Given the description of an element on the screen output the (x, y) to click on. 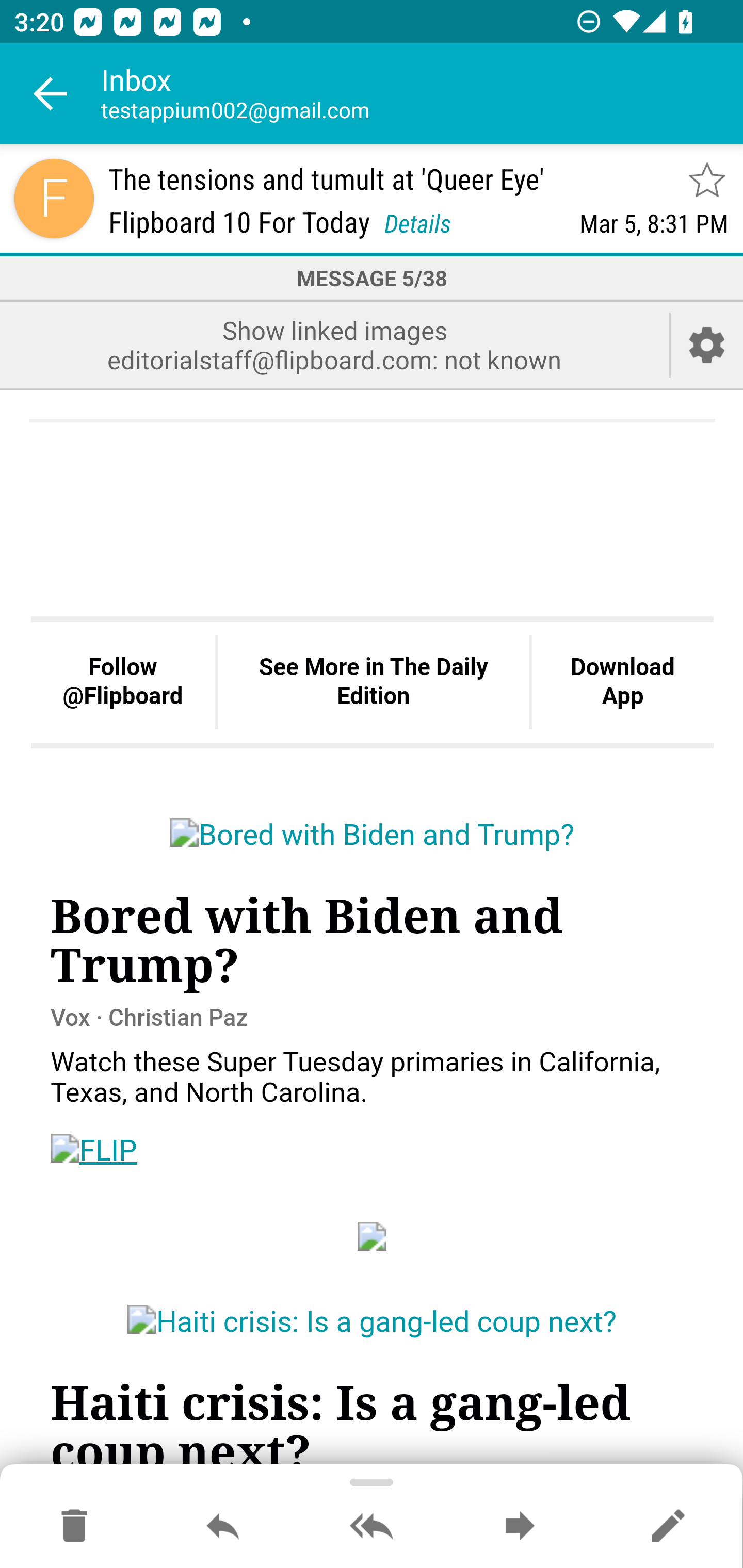
Navigate up (50, 93)
Inbox testappium002@gmail.com (422, 93)
Sender contact button (53, 198)
Account setup (706, 344)
Follow @Flipboard Follow  @Flipboard (122, 682)
See More in The Daily Edition (372, 682)
Download App (622, 682)
FLIP (93, 1150)
data: (372, 1235)
Move to Deleted (74, 1527)
Reply (222, 1527)
Reply all (371, 1527)
Forward (519, 1527)
Reply as new (667, 1527)
